Given the description of an element on the screen output the (x, y) to click on. 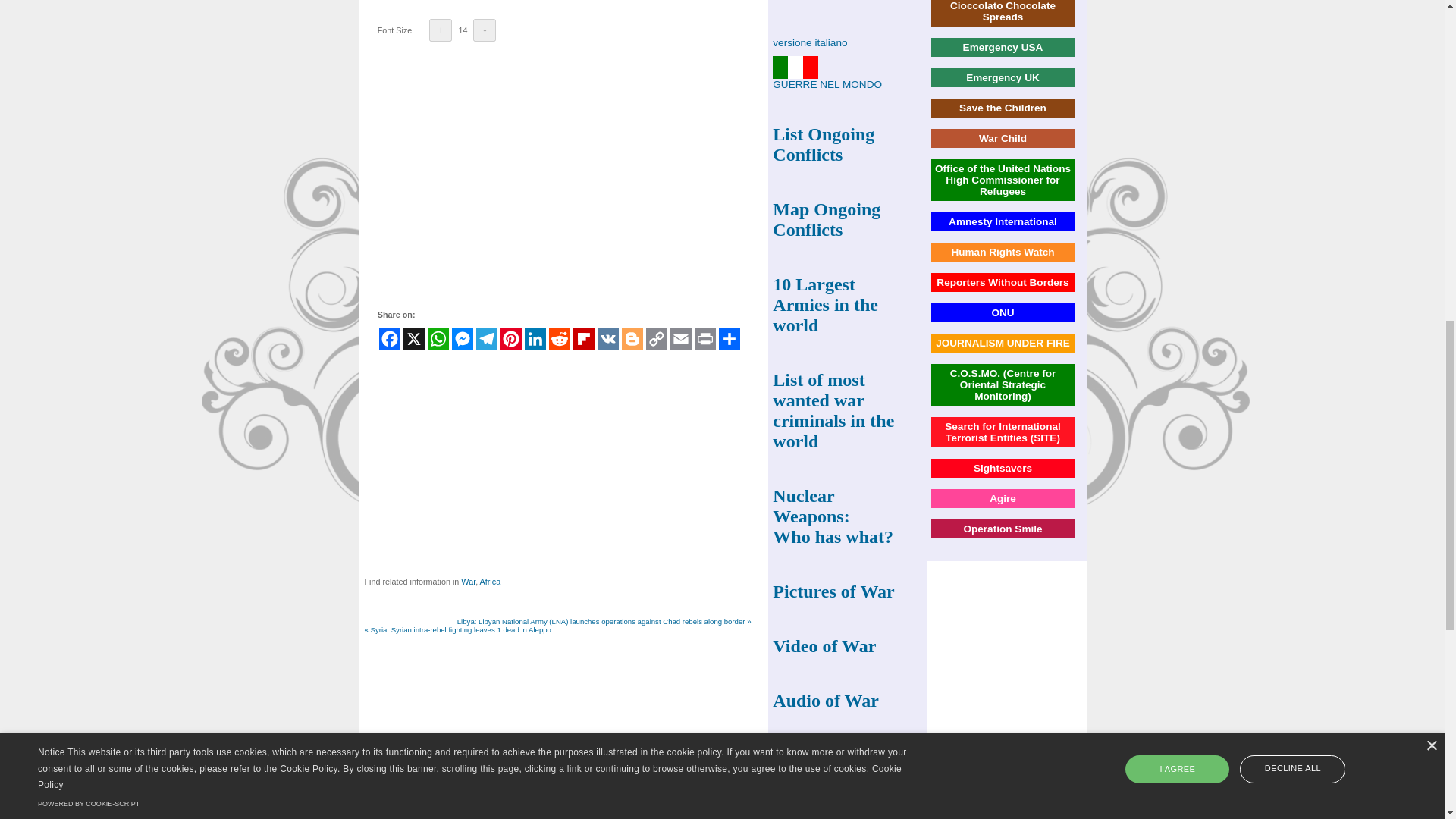
Agire (1003, 498)
JOURNALISM UNDER FIRE (1003, 342)
War Child (1002, 138)
Office of the United Nations High Commissioner for Refugees (1002, 179)
Emergency UK (1002, 77)
Emergency USA (1002, 47)
Human Rights Watch (1002, 251)
Reporters Without Borders (1002, 282)
Creme Spalmabili al Cioccolato Chocolate Spreads (1002, 11)
ONU (1002, 312)
Sightsavers (1003, 468)
Operation Smile (1002, 528)
Amnesty International (1003, 221)
Save the Children (1002, 107)
